Given the description of an element on the screen output the (x, y) to click on. 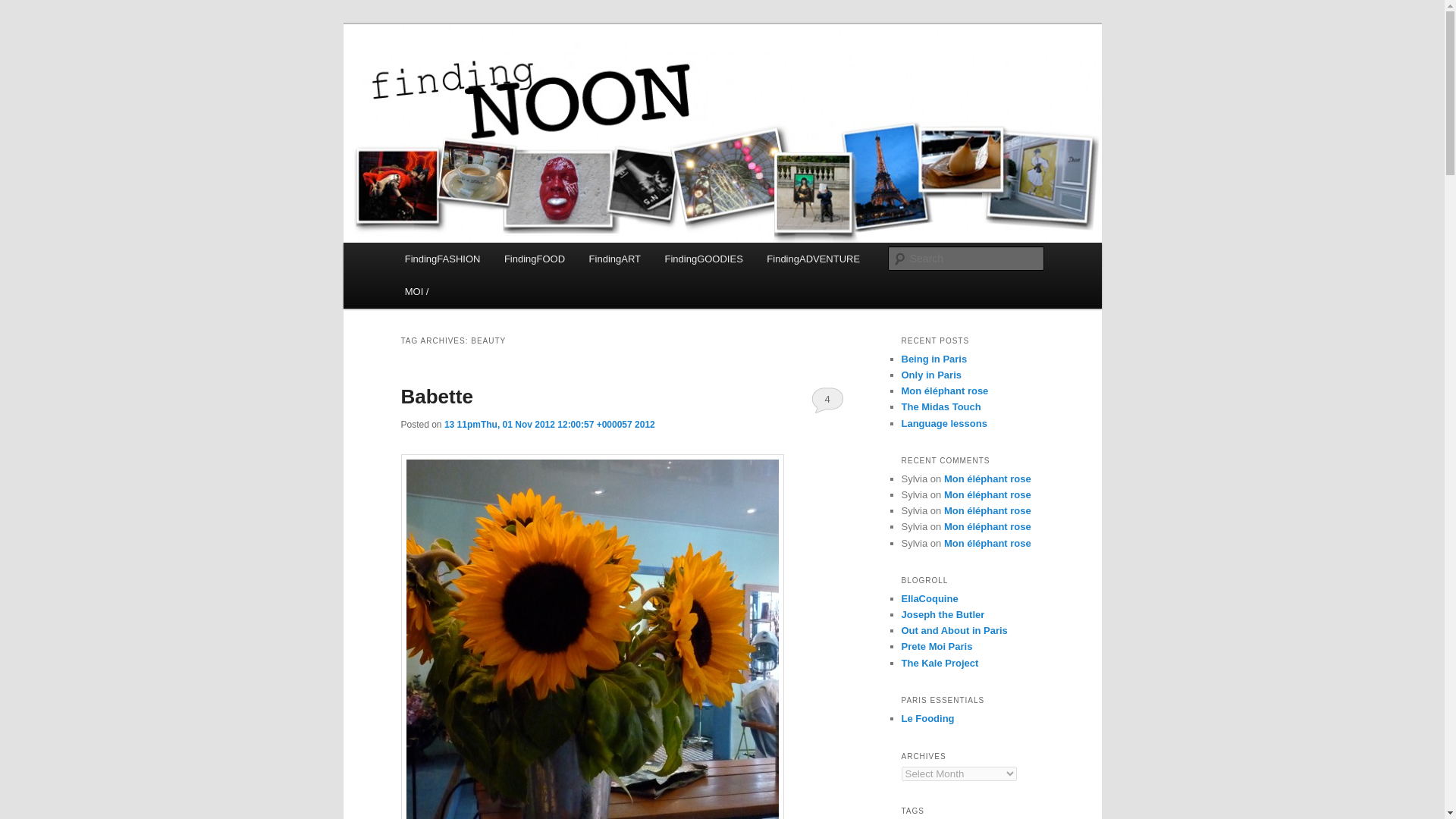
4 (827, 399)
FindingFASHION (442, 258)
Being in Paris (933, 358)
FindingFOOD (534, 258)
Search (24, 8)
In love In Paris (929, 598)
Only in Paris (930, 374)
12:00 pm (549, 424)
Finding Noon (473, 78)
